Given the description of an element on the screen output the (x, y) to click on. 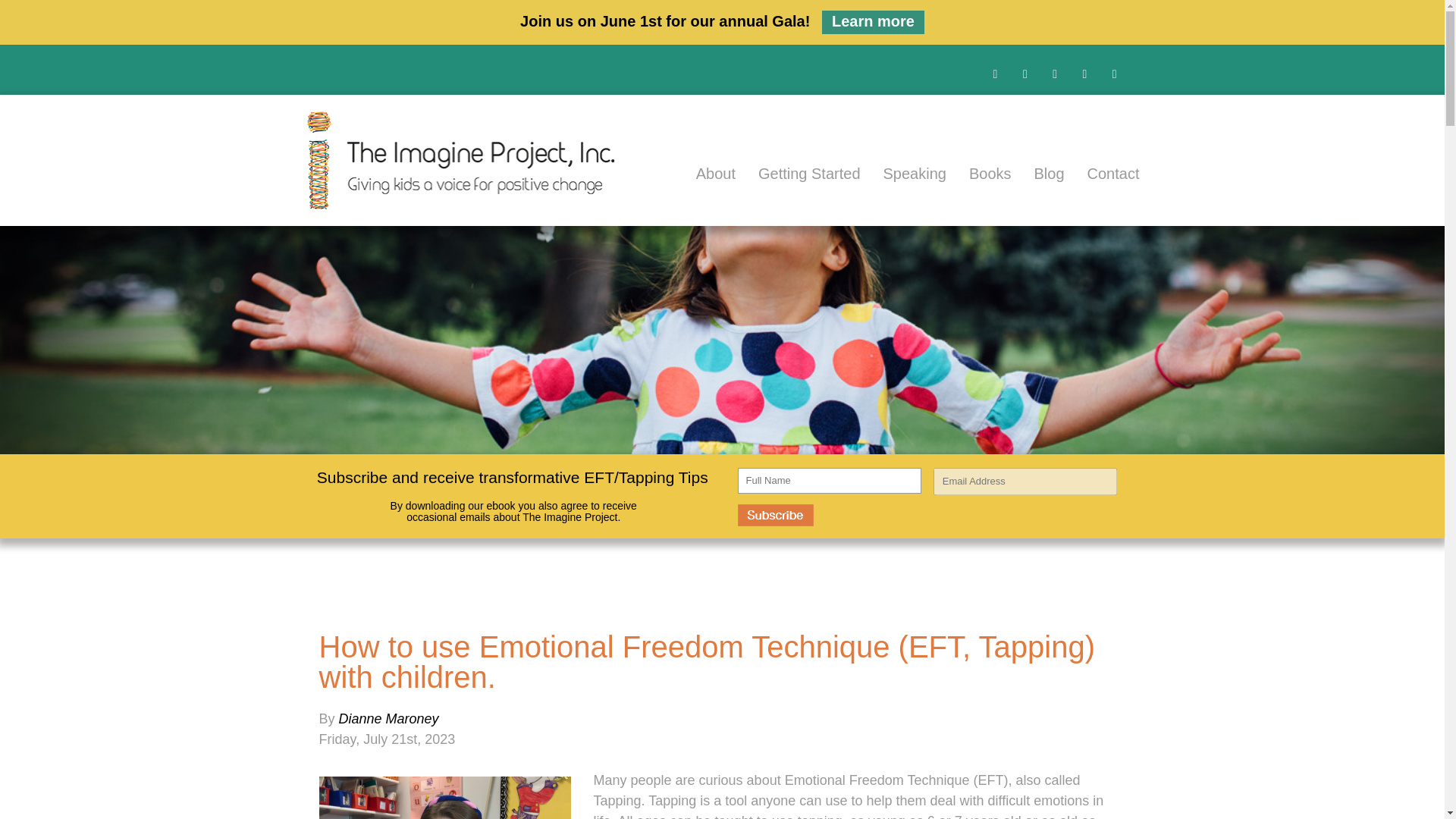
Blog (1037, 173)
Speaking (903, 173)
Books (978, 173)
About (703, 173)
Getting Started (797, 173)
Dianne Maroney (389, 718)
Dianne Maroney (389, 718)
Contact (1102, 173)
